Given the description of an element on the screen output the (x, y) to click on. 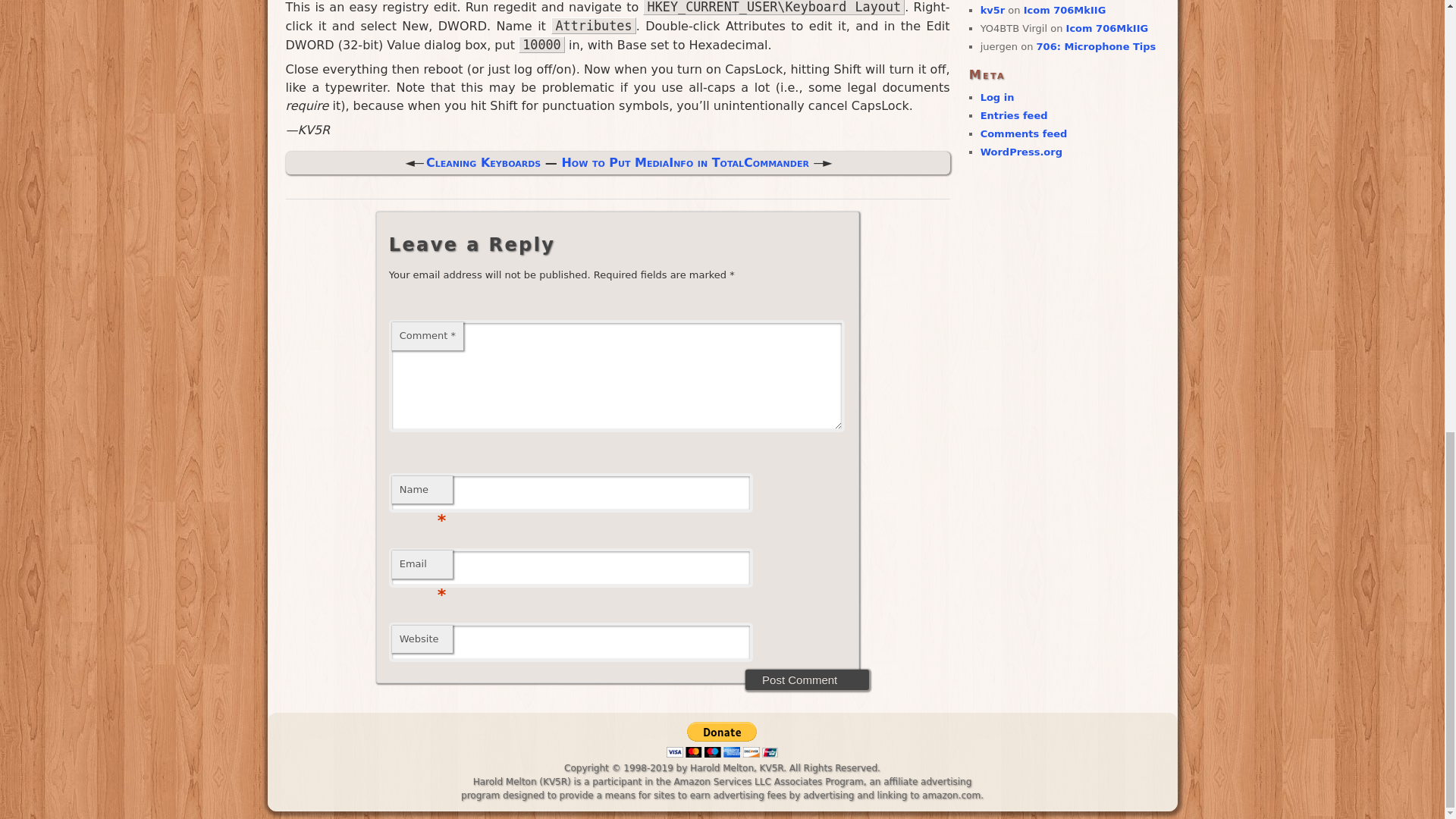
How to Put MediaInfo in TotalCommander (684, 162)
Cleaning Keyboards (483, 162)
PayPal - The safer, easier way to pay online! (721, 739)
Post Comment (807, 679)
